Given the description of an element on the screen output the (x, y) to click on. 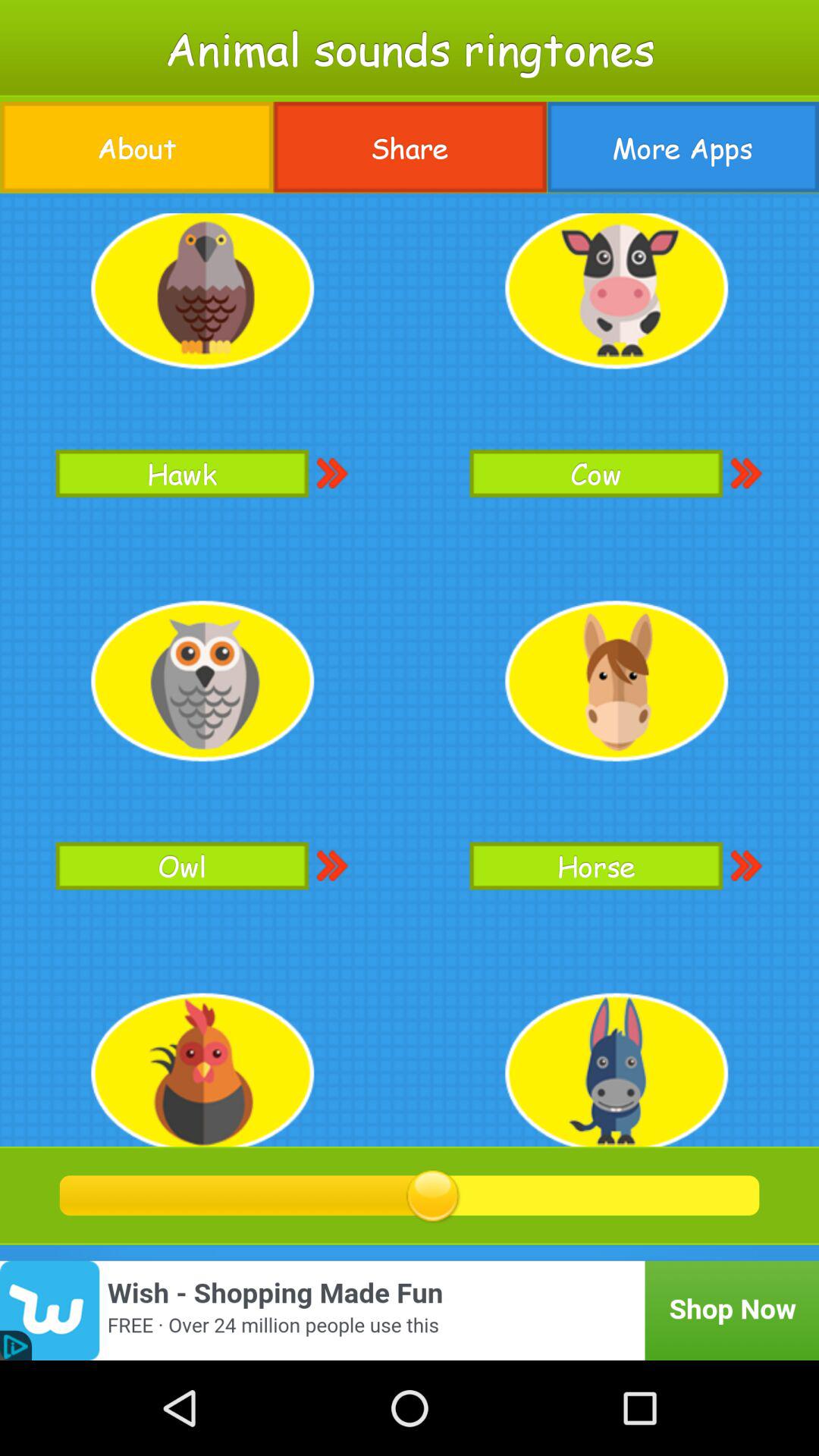
open the owl button (181, 865)
